Given the description of an element on the screen output the (x, y) to click on. 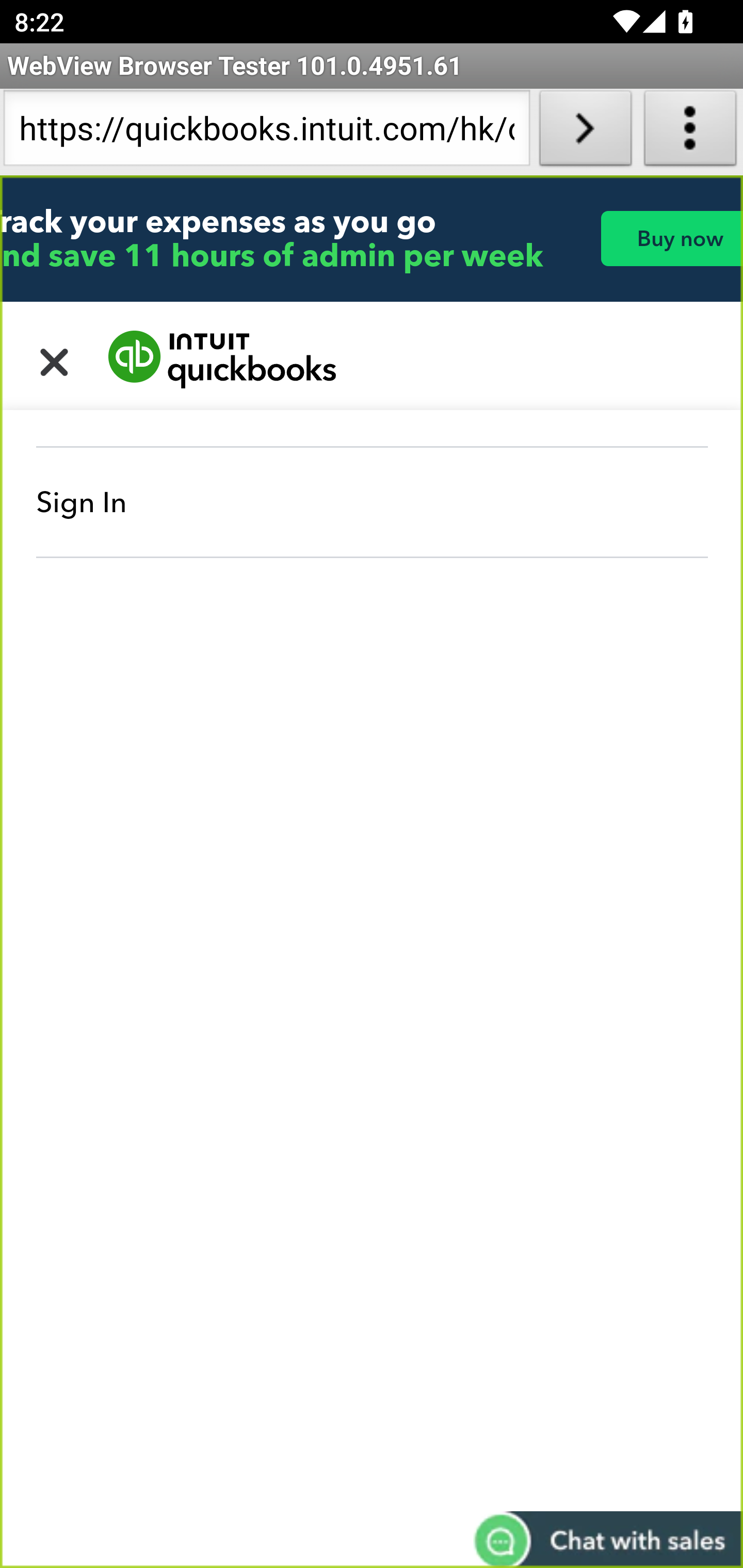
Load URL (585, 132)
About WebView (690, 132)
Buy now (671, 238)
quickbooks-mobile-burger (54, 359)
quickbooks (222, 359)
Sign In (372, 502)
